Given the description of an element on the screen output the (x, y) to click on. 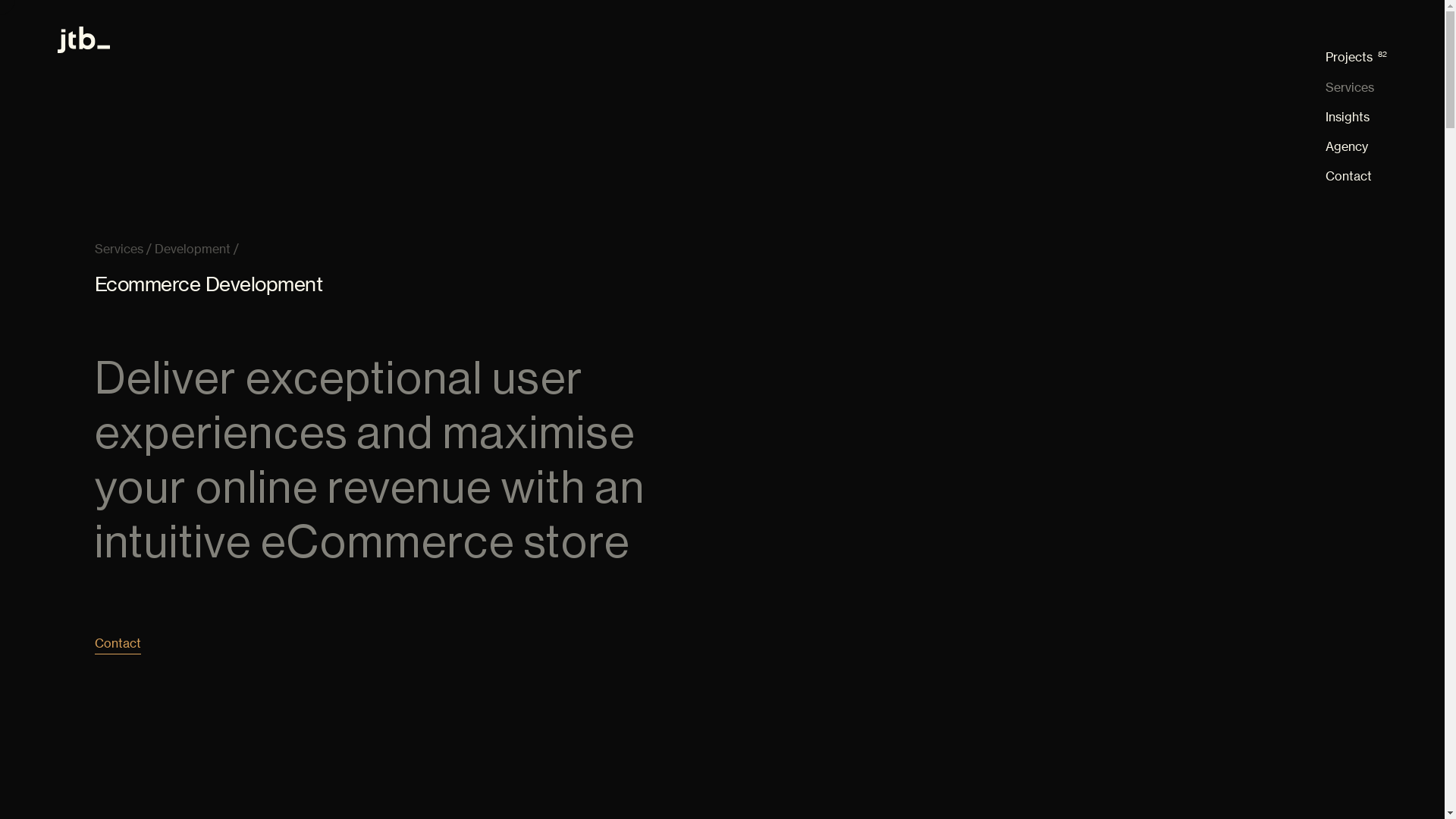
Agency Element type: text (1355, 146)
Contact Element type: text (117, 643)
Projects82 Element type: text (1355, 56)
Contact Element type: text (1355, 176)
Development / Element type: text (196, 248)
Services / Element type: text (122, 248)
Insights Element type: text (1355, 116)
Services Element type: text (1355, 87)
